Given the description of an element on the screen output the (x, y) to click on. 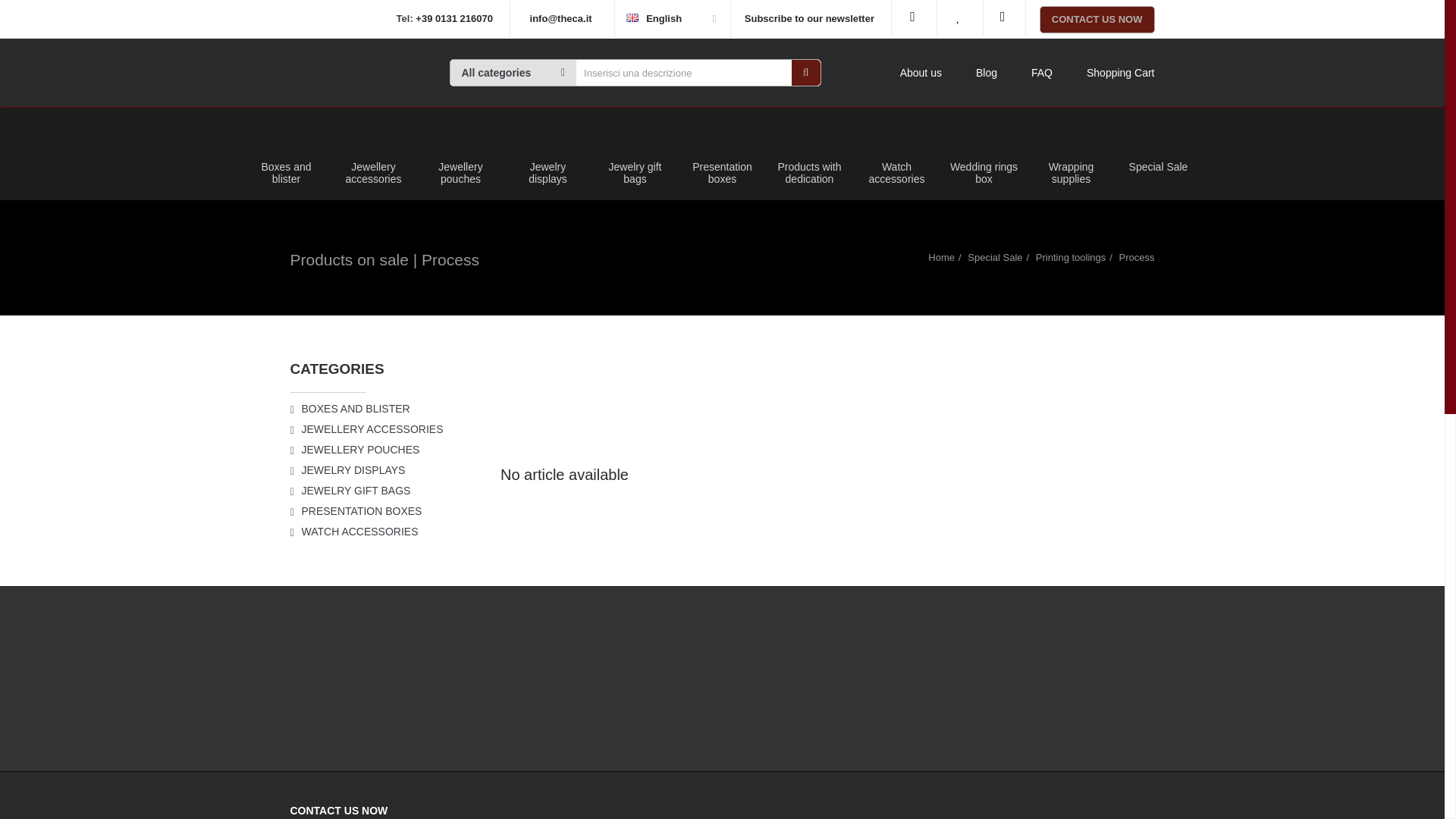
Printing toolings (1070, 256)
Special Sale (995, 256)
CONTACT US NOW (1096, 19)
Shopping Cart (1120, 72)
Jewelry displays (547, 153)
English (632, 17)
Jewellery pouches (460, 153)
Jewellery accessories (373, 153)
Jewellery pouches (460, 153)
Jewellery accessories (373, 153)
Jewellery accessories (373, 137)
Jewelry gift bags (634, 153)
Subscribe to our newsletter (809, 18)
Products with dedication (809, 153)
Wedding rings box (983, 153)
